Given the description of an element on the screen output the (x, y) to click on. 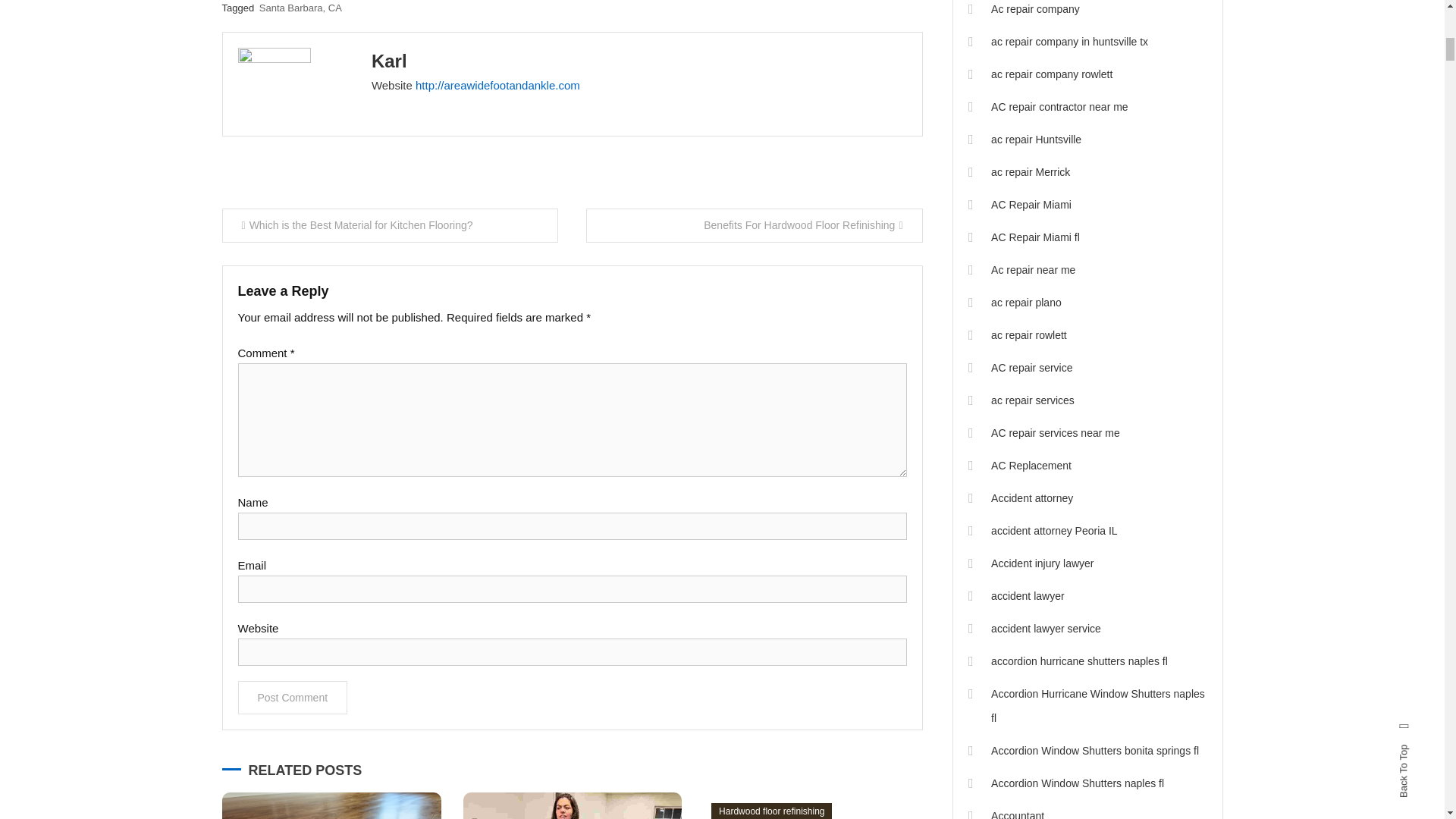
Posts by Karl (389, 60)
Post Comment (292, 697)
